Given the description of an element on the screen output the (x, y) to click on. 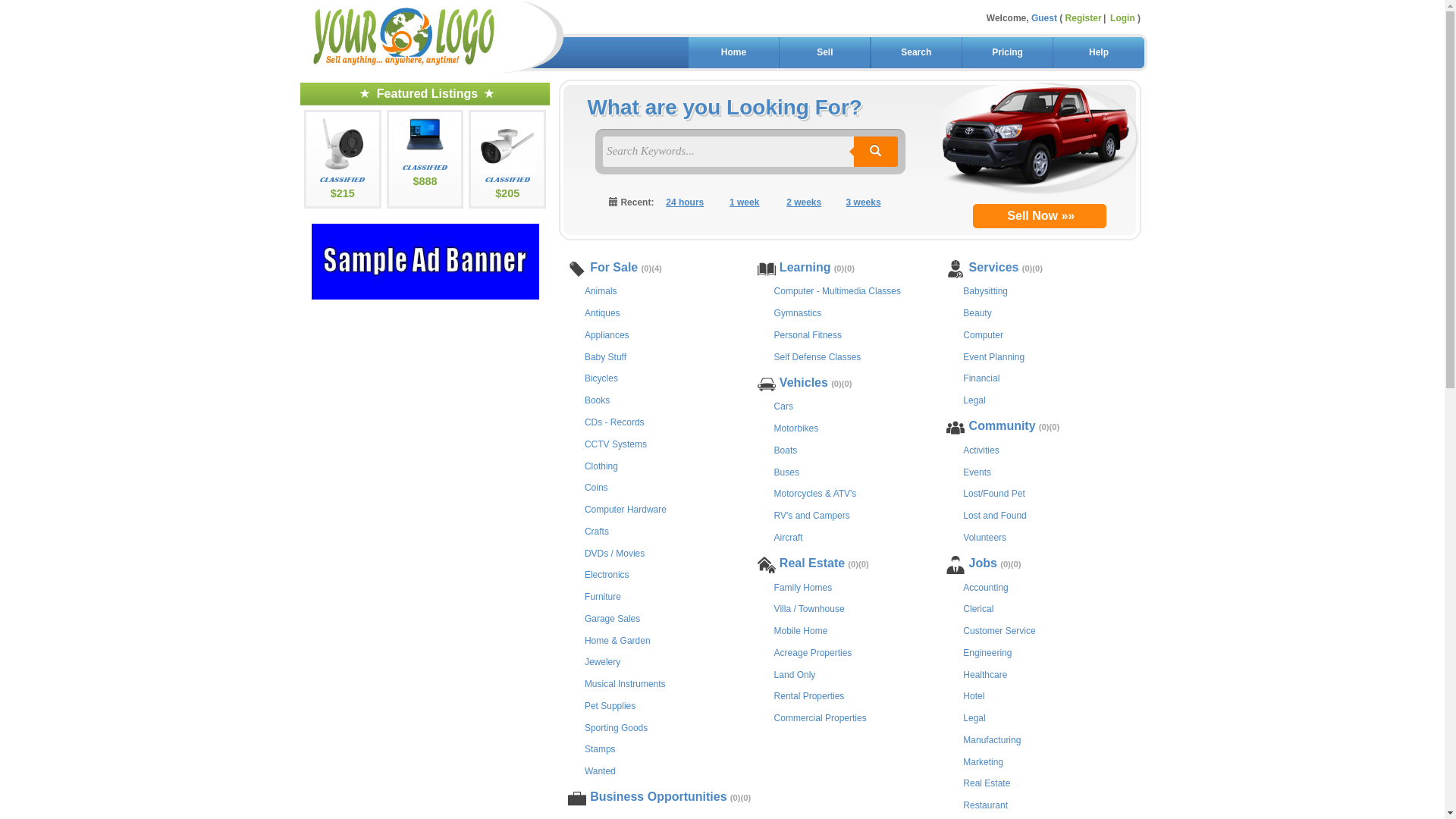
Wanted Element type: text (599, 769)
Boats Element type: text (785, 448)
  Pricing   Element type: text (1007, 52)
Lost/Found Pet Element type: text (993, 492)
Cars Element type: text (783, 404)
Antiques Element type: text (602, 311)
Aircraft Element type: text (788, 536)
1 week Element type: text (743, 202)
3 weeks Element type: text (862, 202)
Motorbikes Element type: text (796, 426)
Australia's No1 Online Marketplace Element type: hover (403, 35)
Services Element type: text (993, 268)
Garage Sales Element type: text (612, 617)
Register Element type: text (1086, 17)
Self Defense Classes Element type: text (817, 355)
Hotel Element type: text (973, 694)
Business Opportunities Element type: text (658, 797)
RV's and Campers Element type: text (812, 514)
Beauty Element type: text (977, 311)
Land Only Element type: text (794, 673)
Motorcycles & ATV's Element type: text (815, 492)
Accounting Element type: text (985, 586)
Marketing Element type: text (983, 760)
Mobile Home Element type: text (801, 629)
Real Estate Element type: text (811, 563)
Crafts Element type: text (596, 530)
Activities Element type: text (980, 448)
Home & Garden Element type: text (617, 639)
Rental Properties Element type: text (809, 694)
Computer Element type: text (983, 333)
Community Element type: text (1001, 426)
Sporting Goods Element type: text (615, 726)
  Sell   Element type: text (824, 52)
Babysitting Element type: text (985, 289)
Computer Hardware Element type: text (625, 508)
Musical Instruments Element type: text (624, 682)
CDs - Records Element type: text (614, 420)
Volunteers Element type: text (984, 536)
For Sale Element type: text (613, 268)
Australia's No1 Online Marketplace Element type: hover (429, 36)
CCTV Systems Element type: text (615, 442)
Bicycles Element type: text (601, 376)
2 weeks Element type: text (803, 202)
DVDs / Movies Element type: text (614, 552)
Baby Stuff Element type: text (605, 355)
Engineering Element type: text (987, 651)
Login Element type: text (1122, 17)
Jewelery Element type: text (602, 660)
Events Element type: text (977, 470)
Computer - Multimedia Classes Element type: text (837, 289)
Australia's No1 Online Marketplace Element type: hover (403, 33)
Vehicles Element type: text (803, 383)
Electronics Element type: text (606, 573)
Financial Element type: text (981, 376)
Pet Supplies Element type: text (609, 704)
Gymnastics Element type: text (798, 311)
Lost and Found Element type: text (994, 514)
Manufacturing Element type: text (991, 738)
Legal Element type: text (974, 716)
Stamps Element type: text (599, 747)
Legal Element type: text (974, 398)
Family Homes Element type: text (803, 586)
Restaurant Element type: text (985, 803)
Appliances Element type: text (606, 333)
Animals Element type: text (600, 289)
Learning Element type: text (804, 268)
Event Planning Element type: text (993, 355)
Coins Element type: text (596, 486)
Villa / Townhouse Element type: text (809, 607)
Real Estate Element type: text (986, 781)
Buses Element type: text (786, 470)
Personal Fitness Element type: text (807, 333)
  Help   Element type: text (1098, 52)
24 hours Element type: text (684, 202)
Books Element type: text (596, 398)
Commercial Properties Element type: text (820, 716)
Clerical Element type: text (978, 607)
Healthcare Element type: text (985, 673)
Acreage Properties Element type: text (813, 651)
Jobs Element type: text (982, 563)
  Search   Element type: text (916, 52)
  Home   Element type: text (733, 52)
Clothing Element type: text (601, 464)
Sample Ad Banner Element type: hover (424, 261)
Furniture Element type: text (602, 595)
Customer Service Element type: text (999, 629)
